Given the description of an element on the screen output the (x, y) to click on. 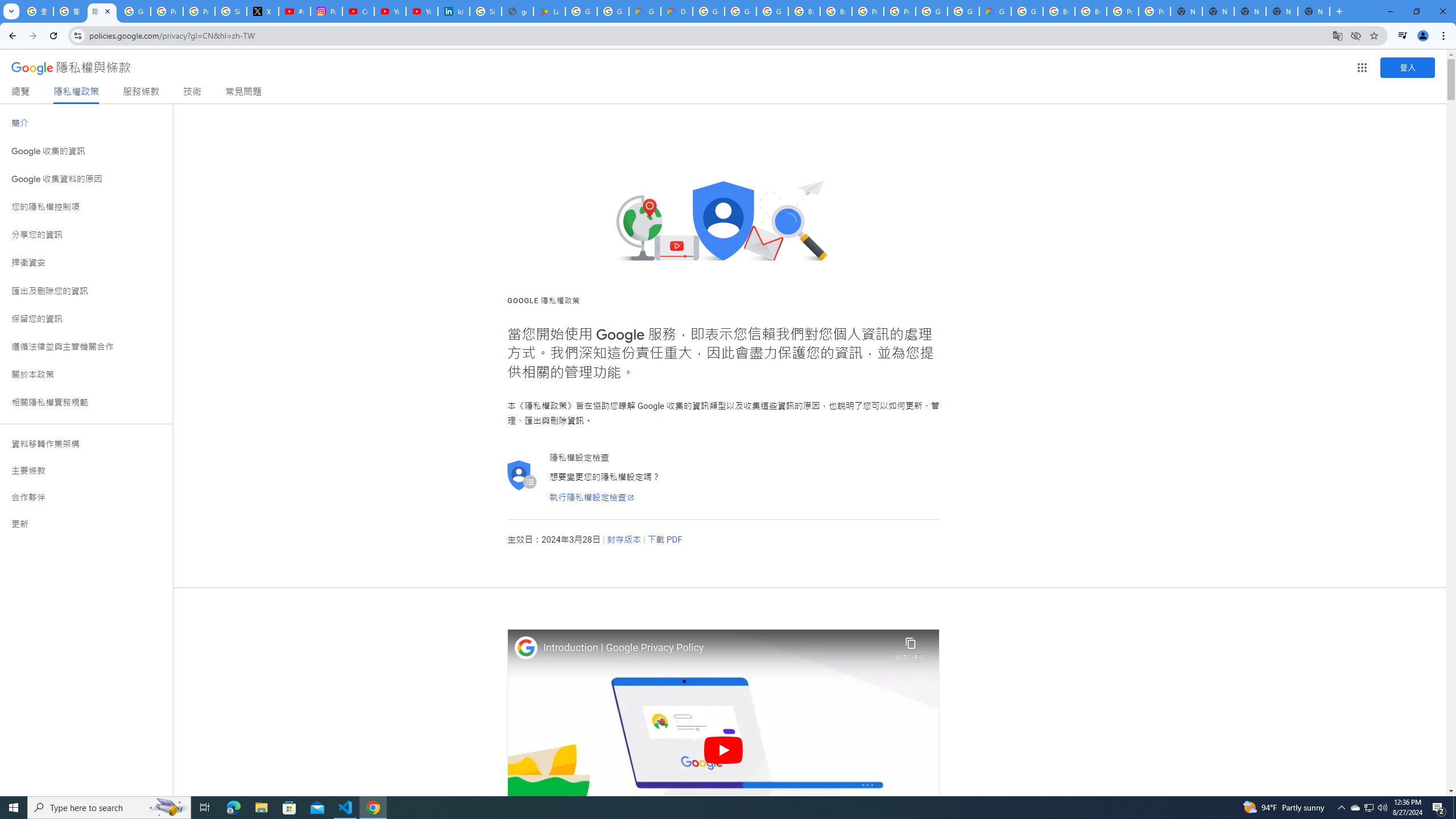
Browse Chrome as a guest - Computer - Google Chrome Help (1059, 11)
Privacy Help Center - Policies Help (198, 11)
